Given the description of an element on the screen output the (x, y) to click on. 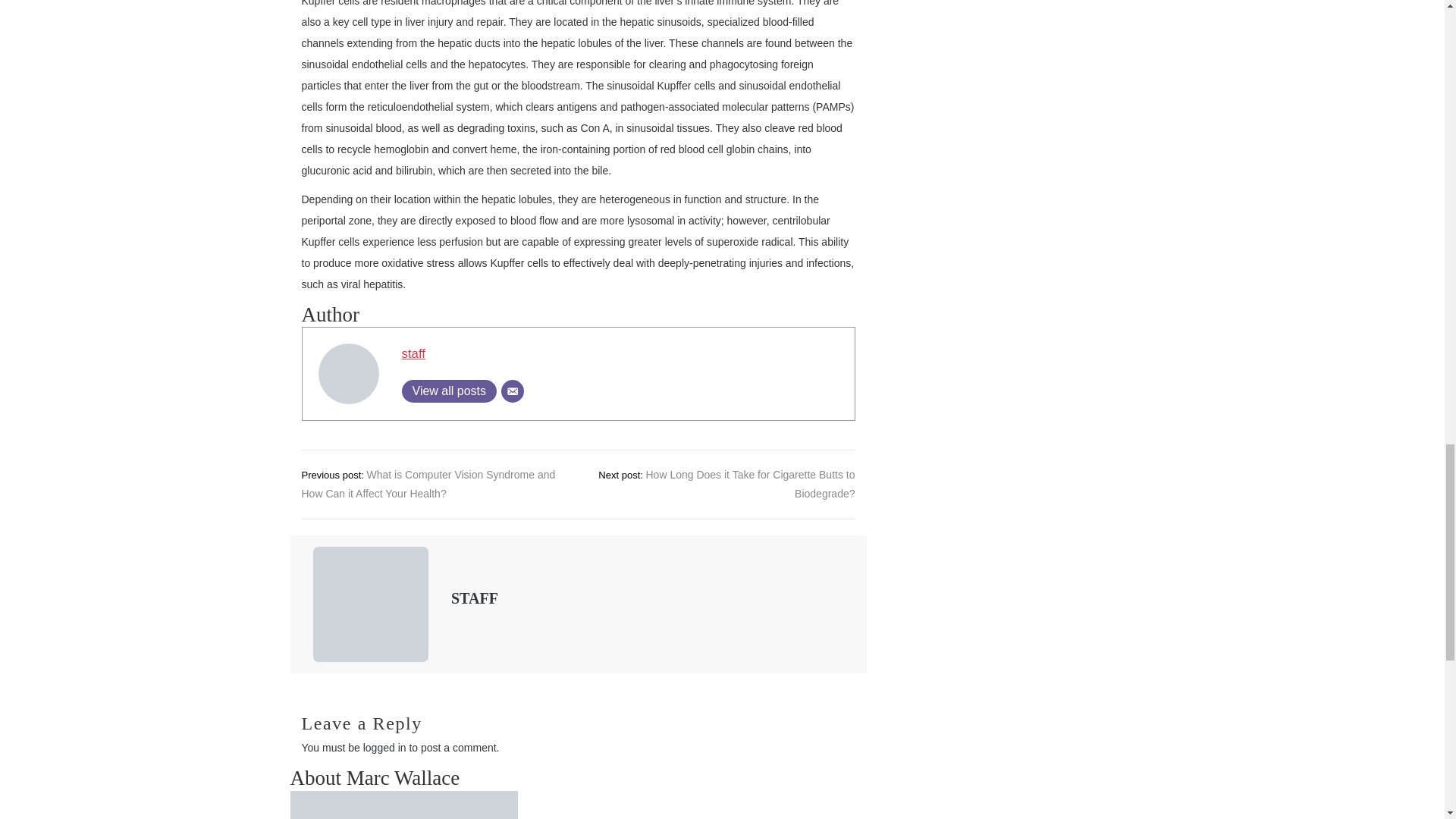
logged in (384, 747)
View all posts (449, 391)
STAFF (474, 597)
View all posts (449, 391)
staff (413, 353)
staff (413, 353)
